Given the description of an element on the screen output the (x, y) to click on. 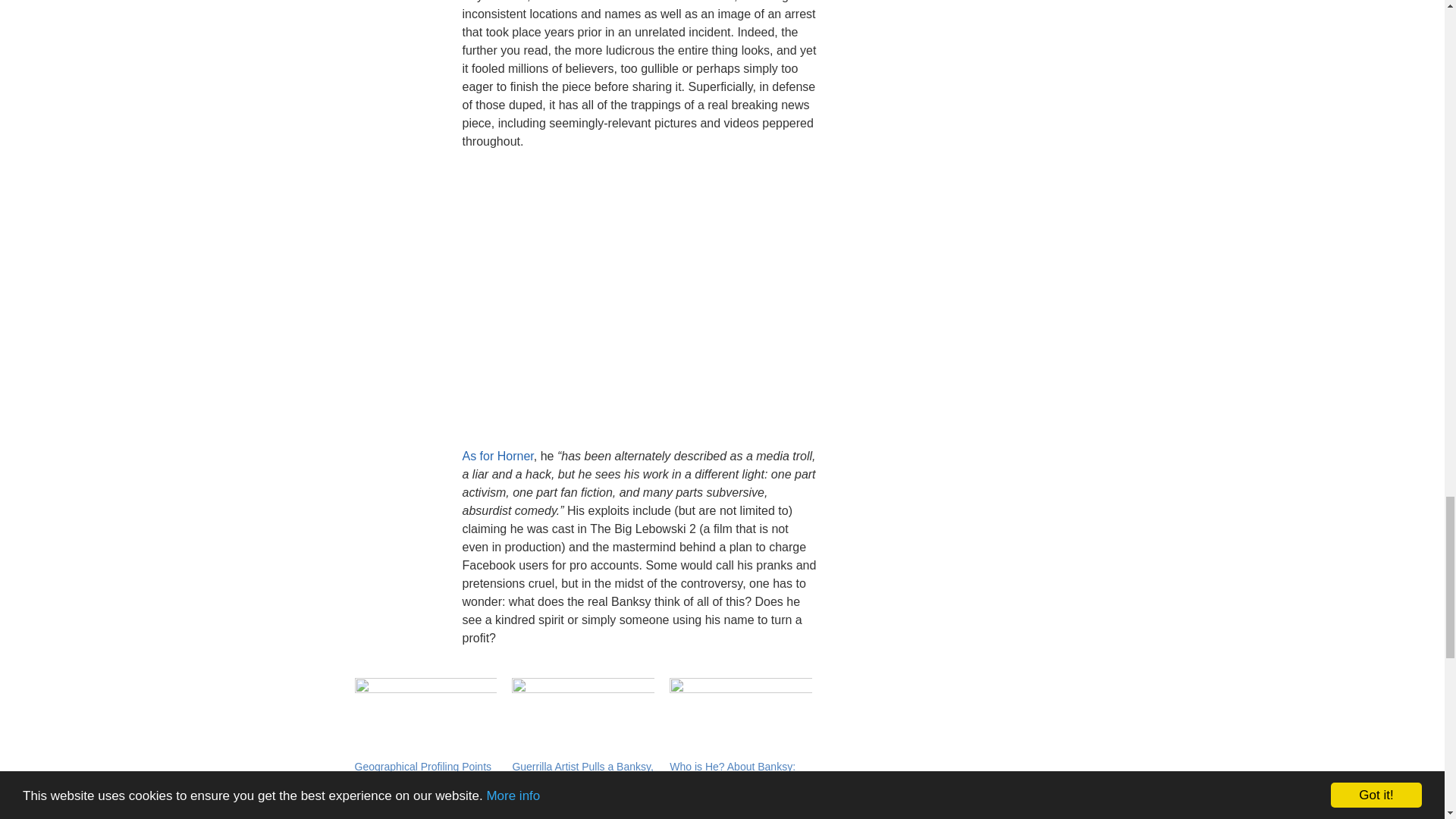
Who is He? About Banksy: Famously Anonymous Street Artist (737, 781)
Who is He? About Banksy: Famously Anonymous Street Artist (740, 718)
Who is He? About Banksy: Famously Anonymous Street Artist (737, 781)
As for Horner (498, 455)
